Given the description of an element on the screen output the (x, y) to click on. 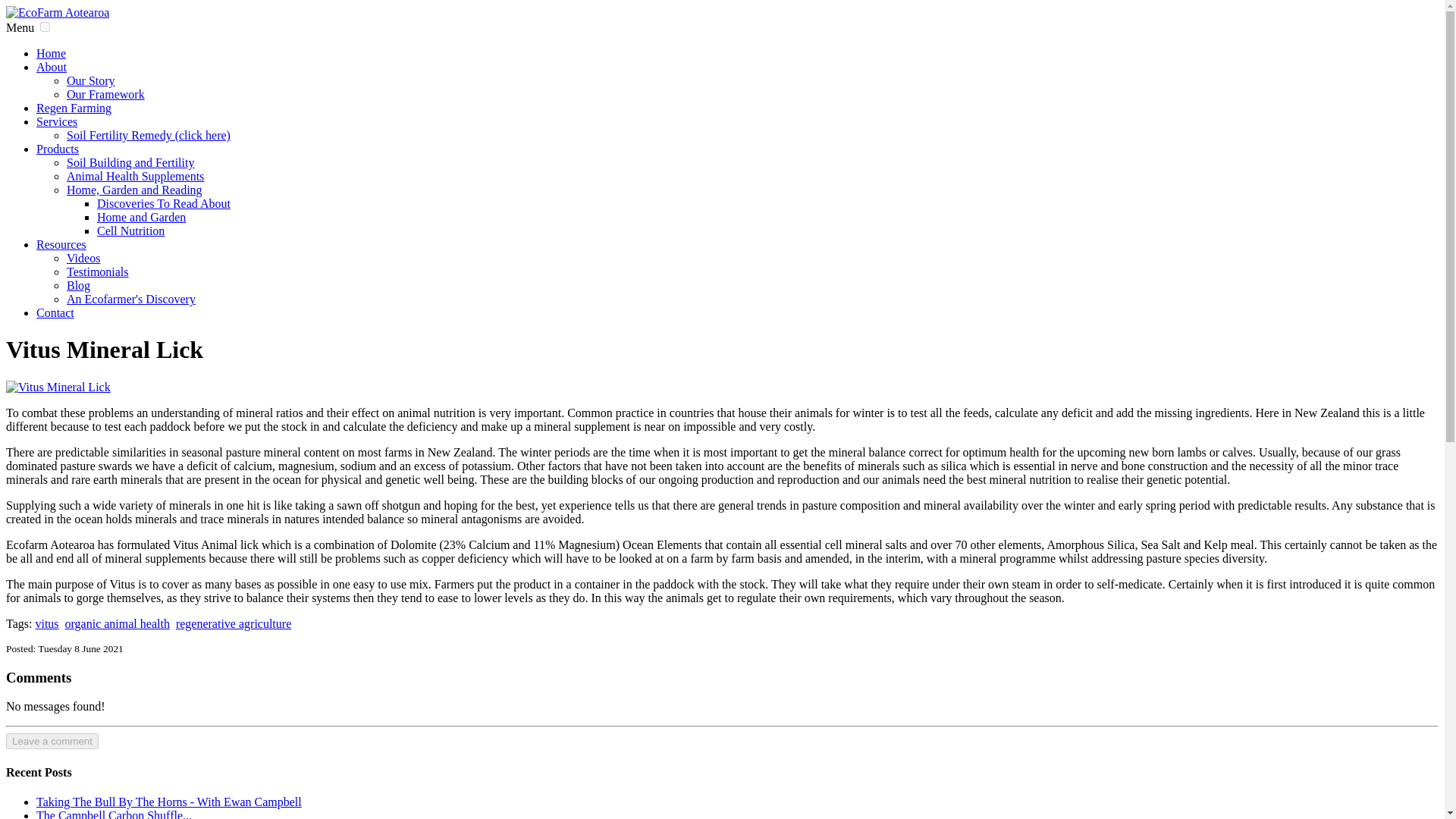
vitus (46, 623)
Cell Nutrition (130, 230)
Home and Garden (141, 216)
Blog (78, 285)
Testimonials (97, 271)
Our Story (90, 80)
Soil Building and Fertility (129, 162)
Leave a comment (52, 741)
Home, Garden and Reading (134, 189)
Contact (55, 312)
